Given the description of an element on the screen output the (x, y) to click on. 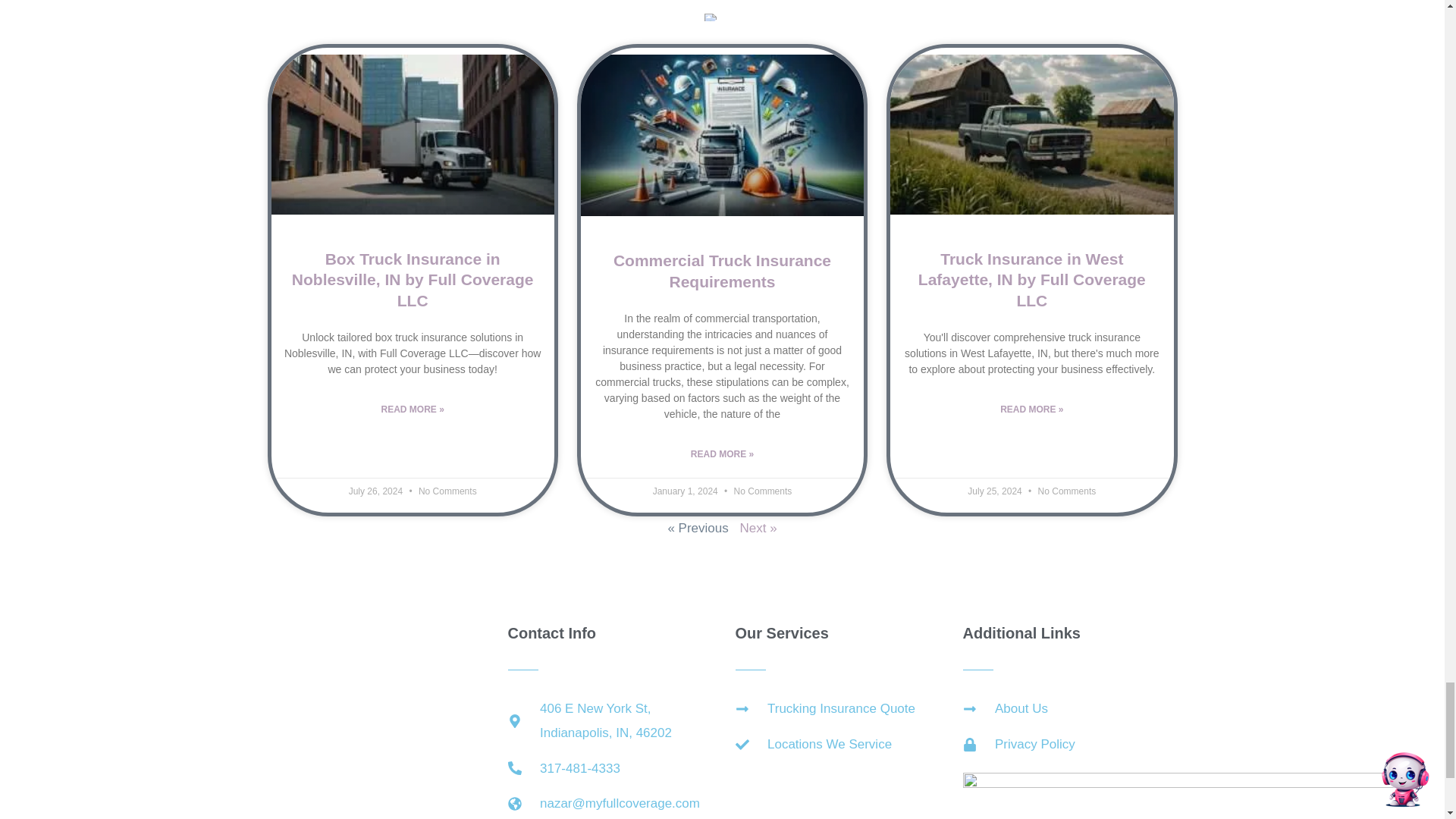
Box Truck Insurance in Noblesville, IN by Full Coverage LLC (413, 279)
Truck Insurance in West Lafayette, IN by Full Coverage LLC (1031, 279)
Commercial Truck Insurance Requirements (721, 270)
